Given the description of an element on the screen output the (x, y) to click on. 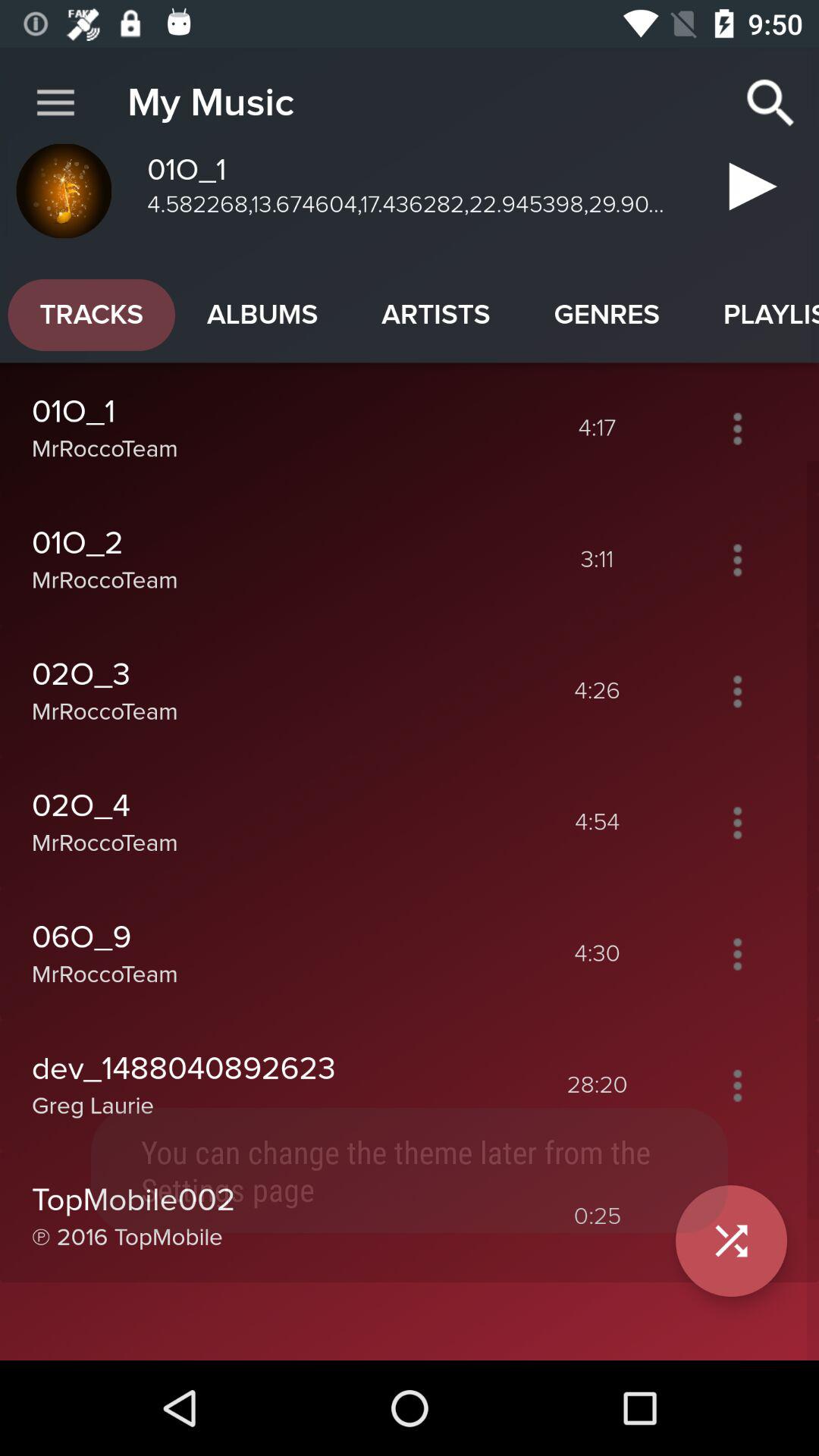
open options (737, 559)
